Given the description of an element on the screen output the (x, y) to click on. 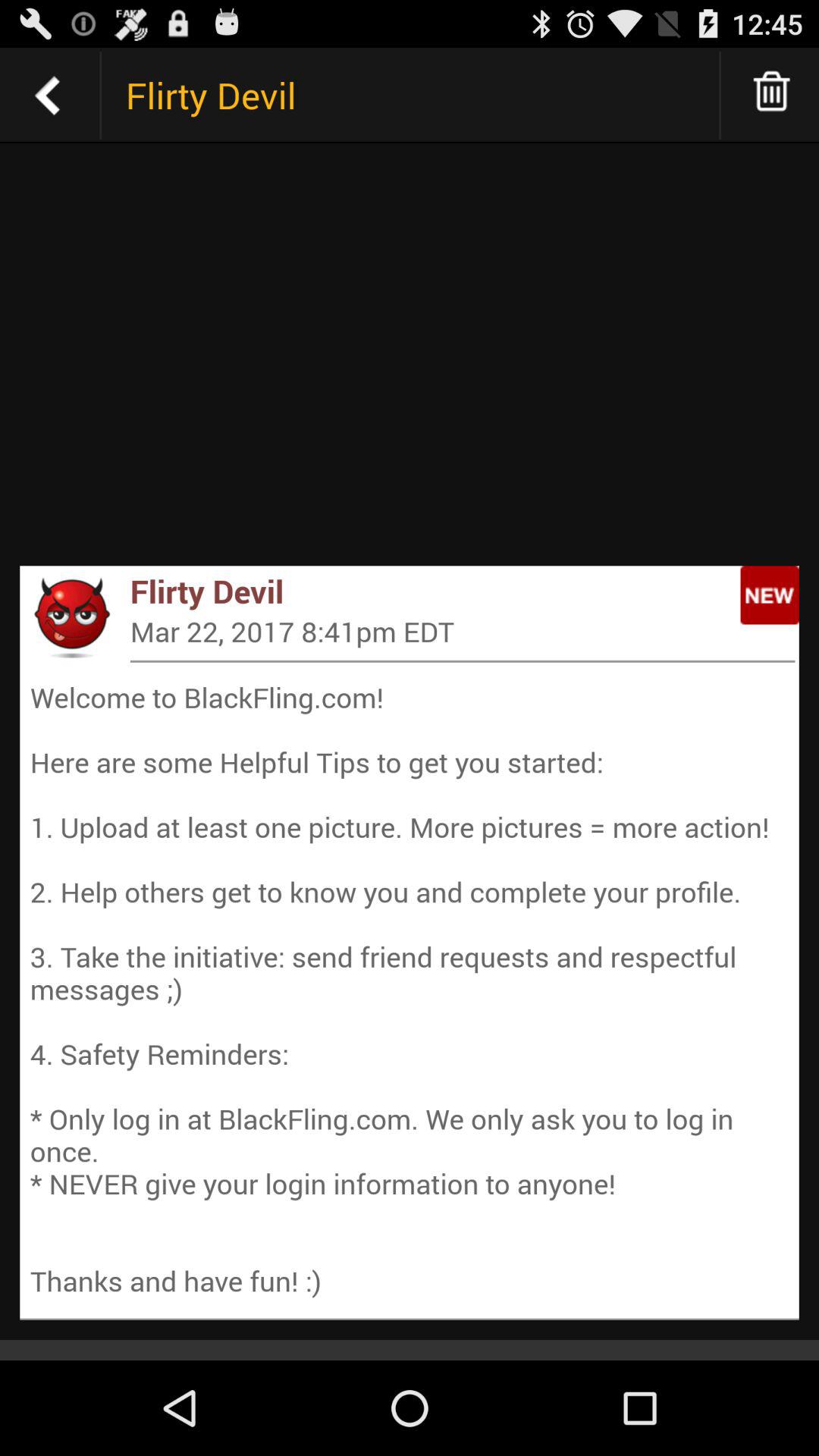
go back (47, 95)
